Given the description of an element on the screen output the (x, y) to click on. 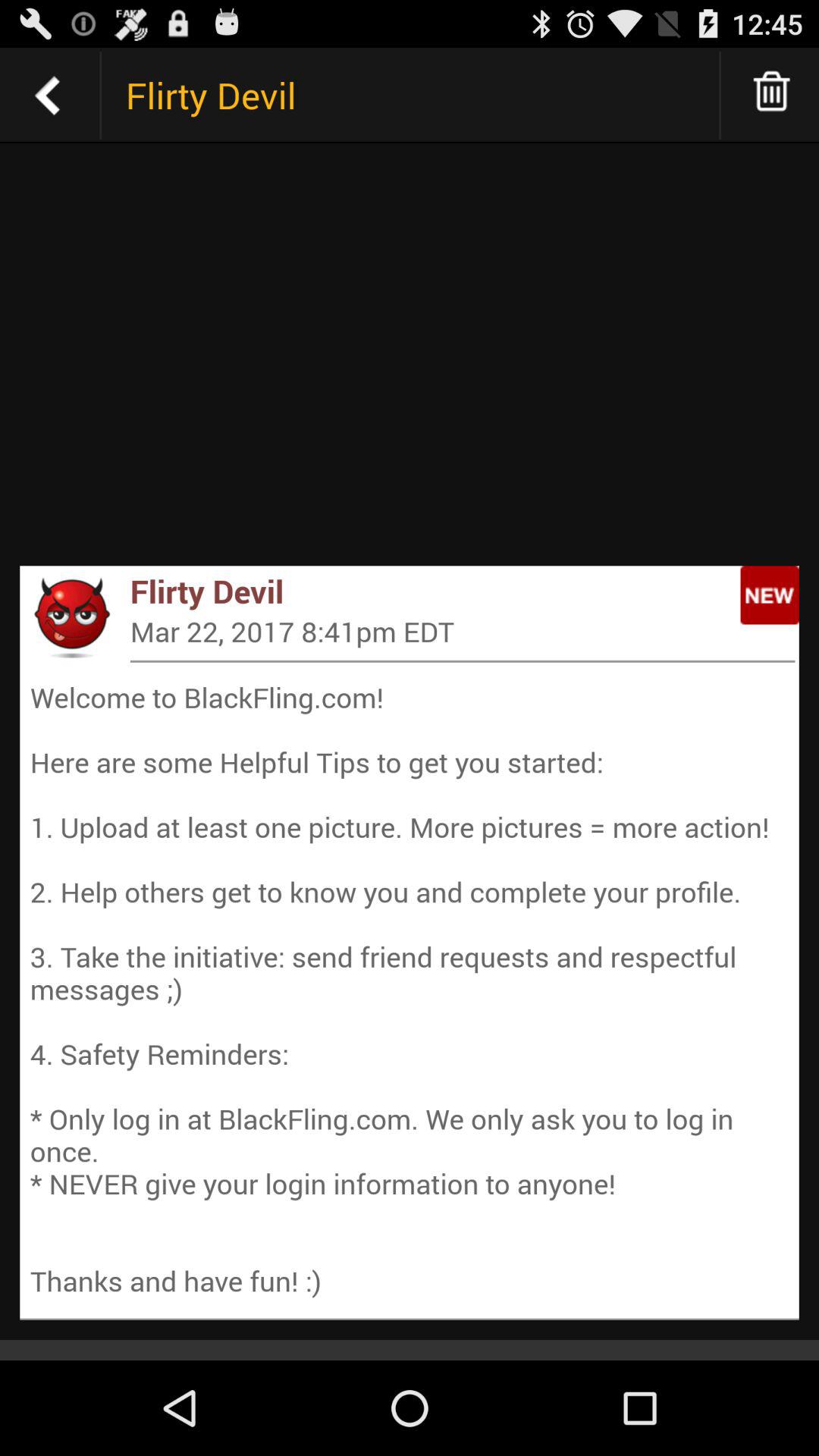
go back (47, 95)
